Given the description of an element on the screen output the (x, y) to click on. 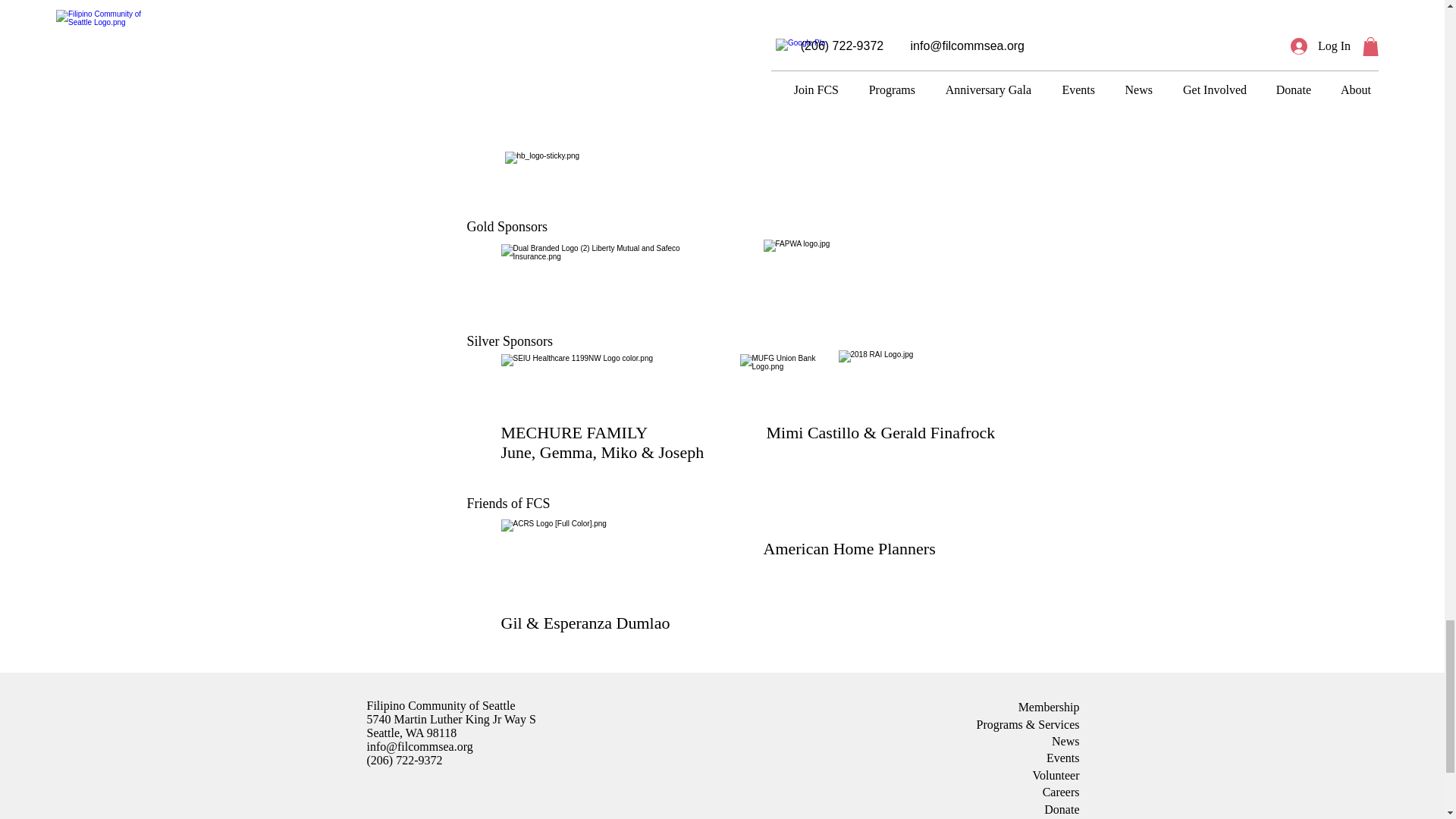
Membership (1048, 707)
Volunteer (1056, 775)
Careers (1061, 791)
News (1064, 740)
Donate (1060, 809)
Events (1063, 757)
